Given the description of an element on the screen output the (x, y) to click on. 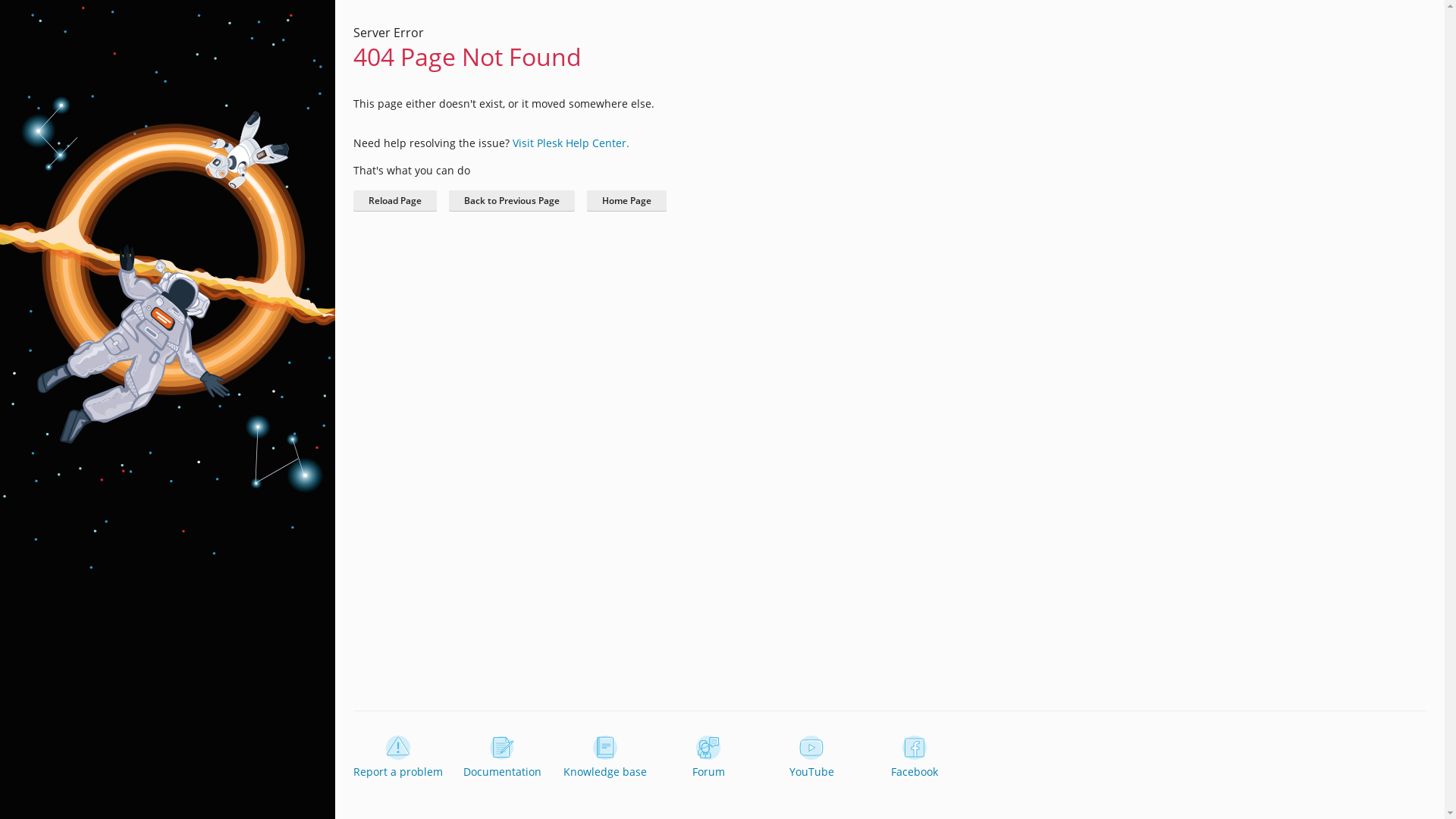
Visit Plesk Help Center. Element type: text (570, 142)
Knowledge base Element type: text (605, 757)
Home Page Element type: text (626, 200)
Reload Page Element type: text (394, 200)
Documentation Element type: text (502, 757)
Report a problem Element type: text (397, 757)
Facebook Element type: text (914, 757)
Back to Previous Page Element type: text (511, 200)
YouTube Element type: text (811, 757)
Forum Element type: text (708, 757)
